Given the description of an element on the screen output the (x, y) to click on. 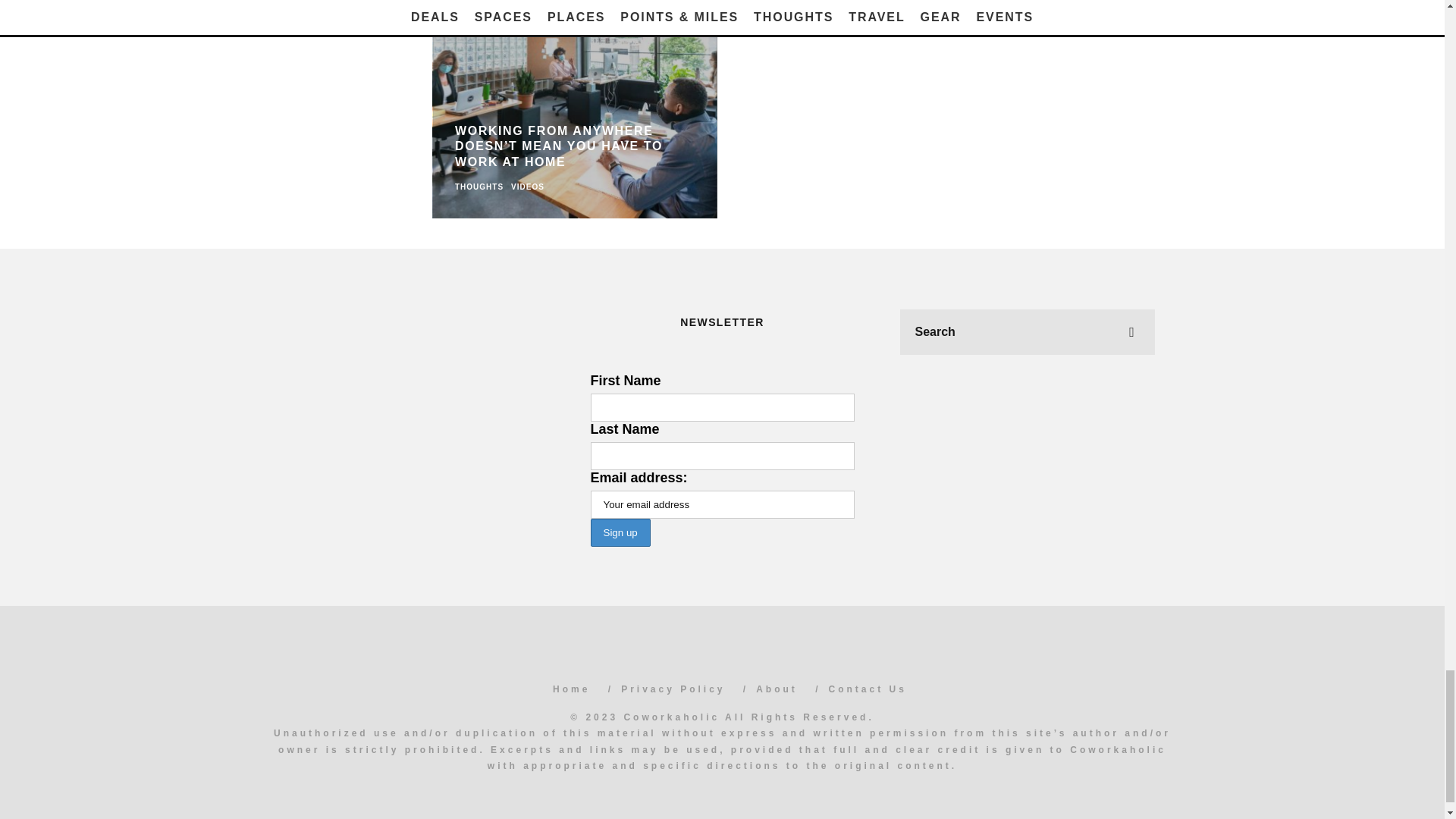
Sign up (619, 532)
